Given the description of an element on the screen output the (x, y) to click on. 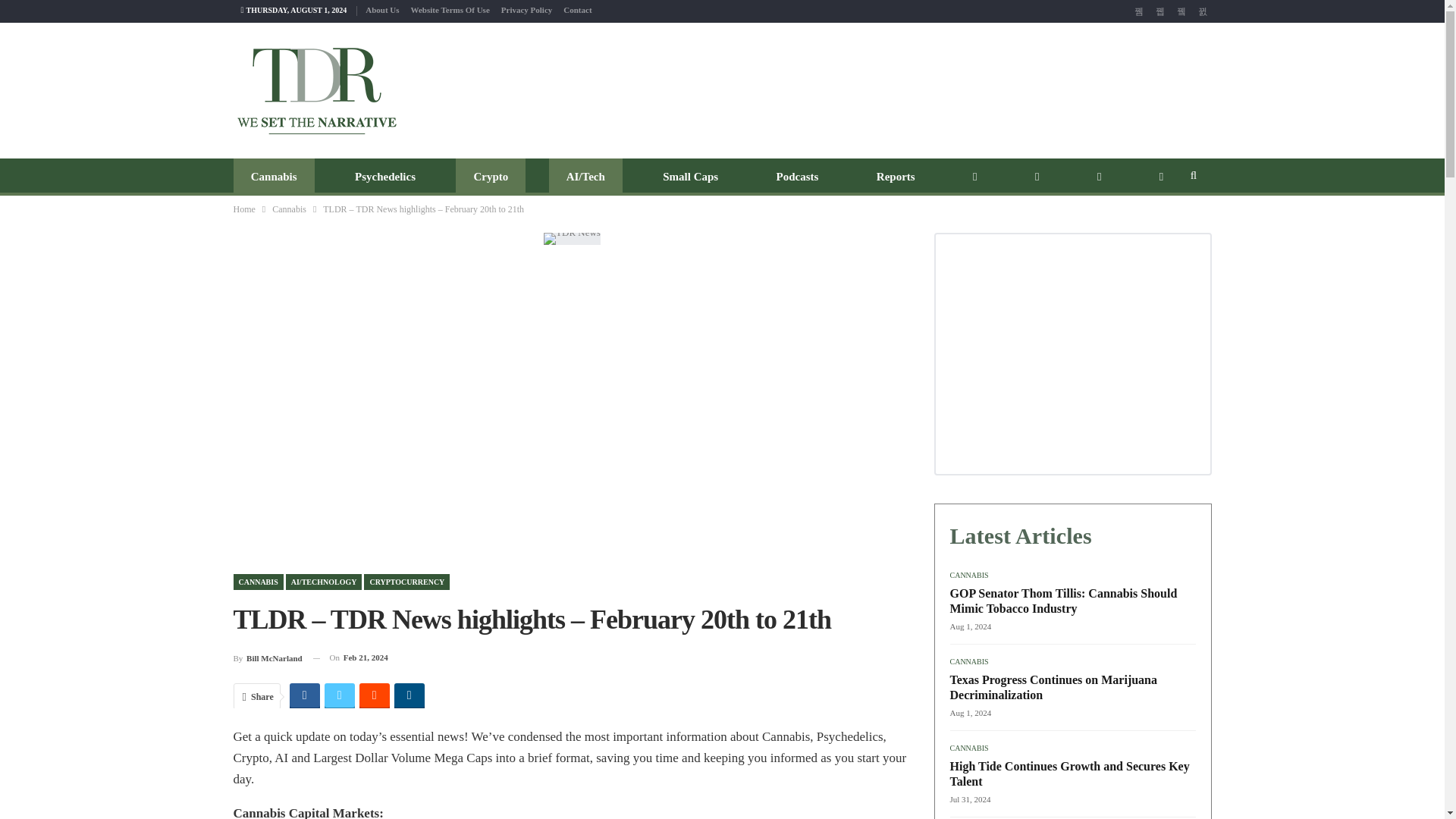
Home (244, 208)
Cannabis (288, 208)
By Bill McNarland (267, 657)
CRYPTOCURRENCY (406, 581)
Browse Author Articles (267, 657)
Reports (896, 176)
Small Caps (690, 176)
Podcasts (796, 176)
CANNABIS (257, 581)
Psychedelics (384, 176)
Contact (577, 9)
Website Terms Of Use (449, 9)
Cannabis (273, 176)
About Us (381, 9)
Crypto (490, 176)
